Given the description of an element on the screen output the (x, y) to click on. 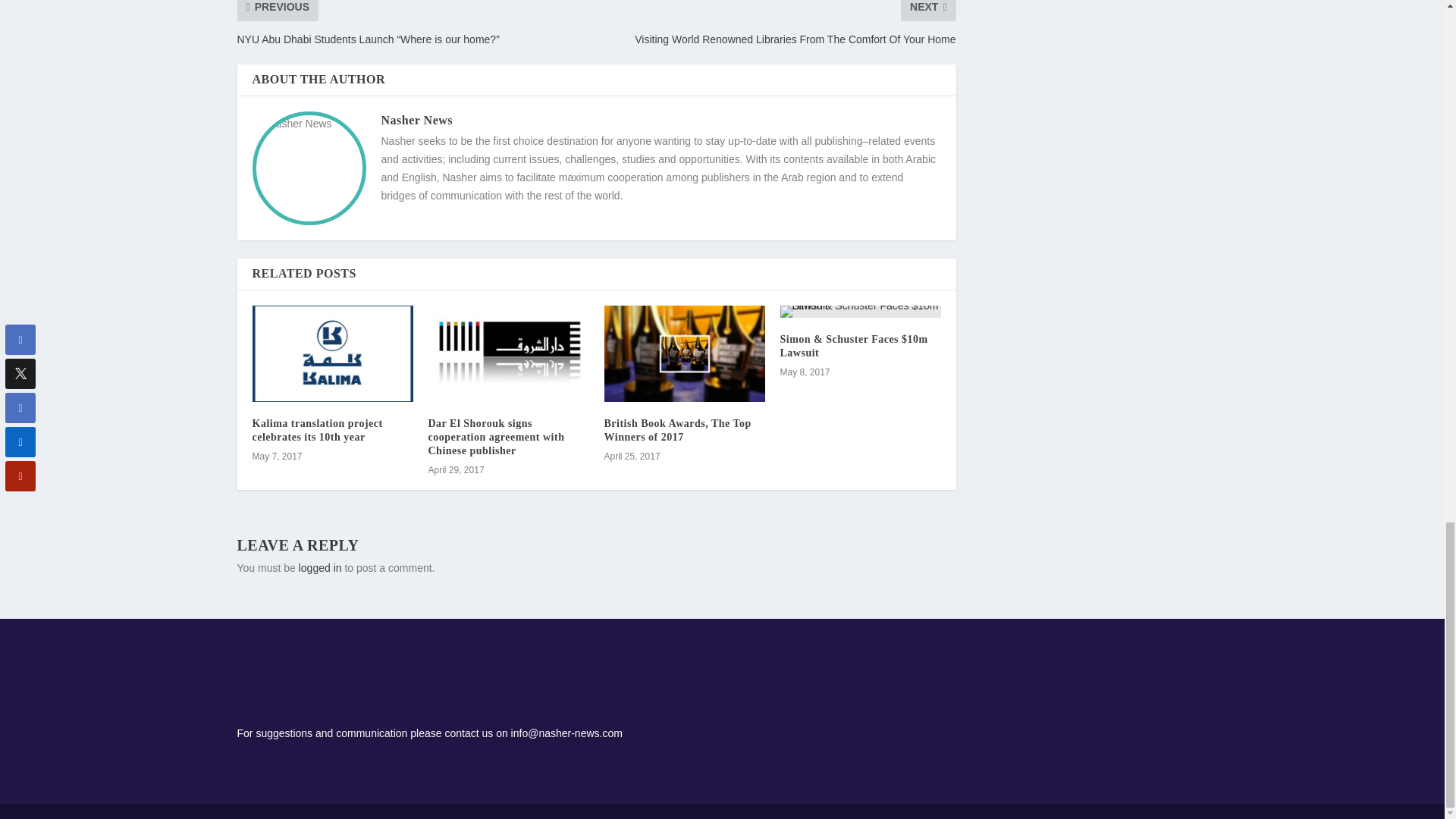
Kalima translation project celebrates its 10th year (331, 353)
Nasher News (416, 119)
View all posts by Nasher News (416, 119)
British Book Awards, The Top Winners of 2017 (684, 353)
Kalima translation project celebrates its 10th year (316, 430)
British Book Awards, The Top Winners of 2017 (677, 430)
logged in (320, 567)
